Given the description of an element on the screen output the (x, y) to click on. 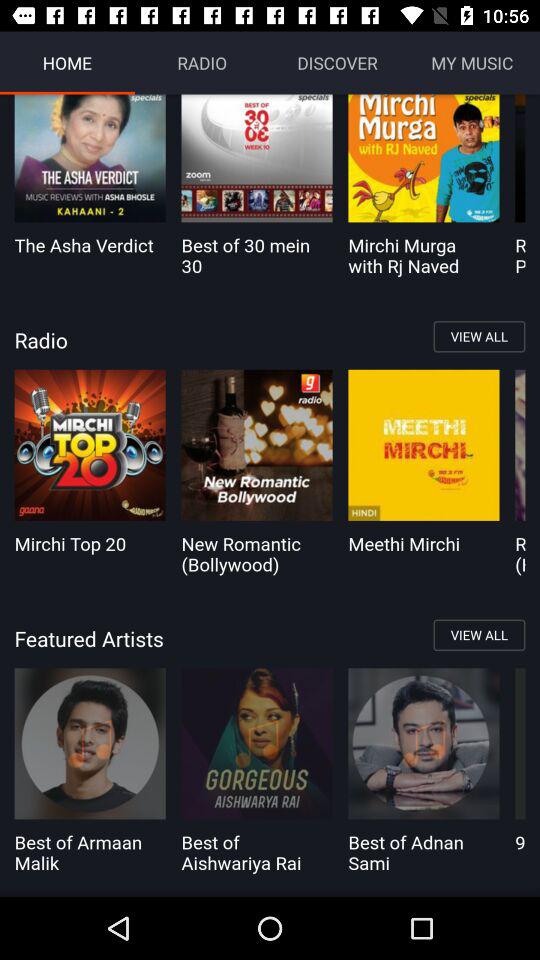
turn on the featured artists item (270, 638)
